Given the description of an element on the screen output the (x, y) to click on. 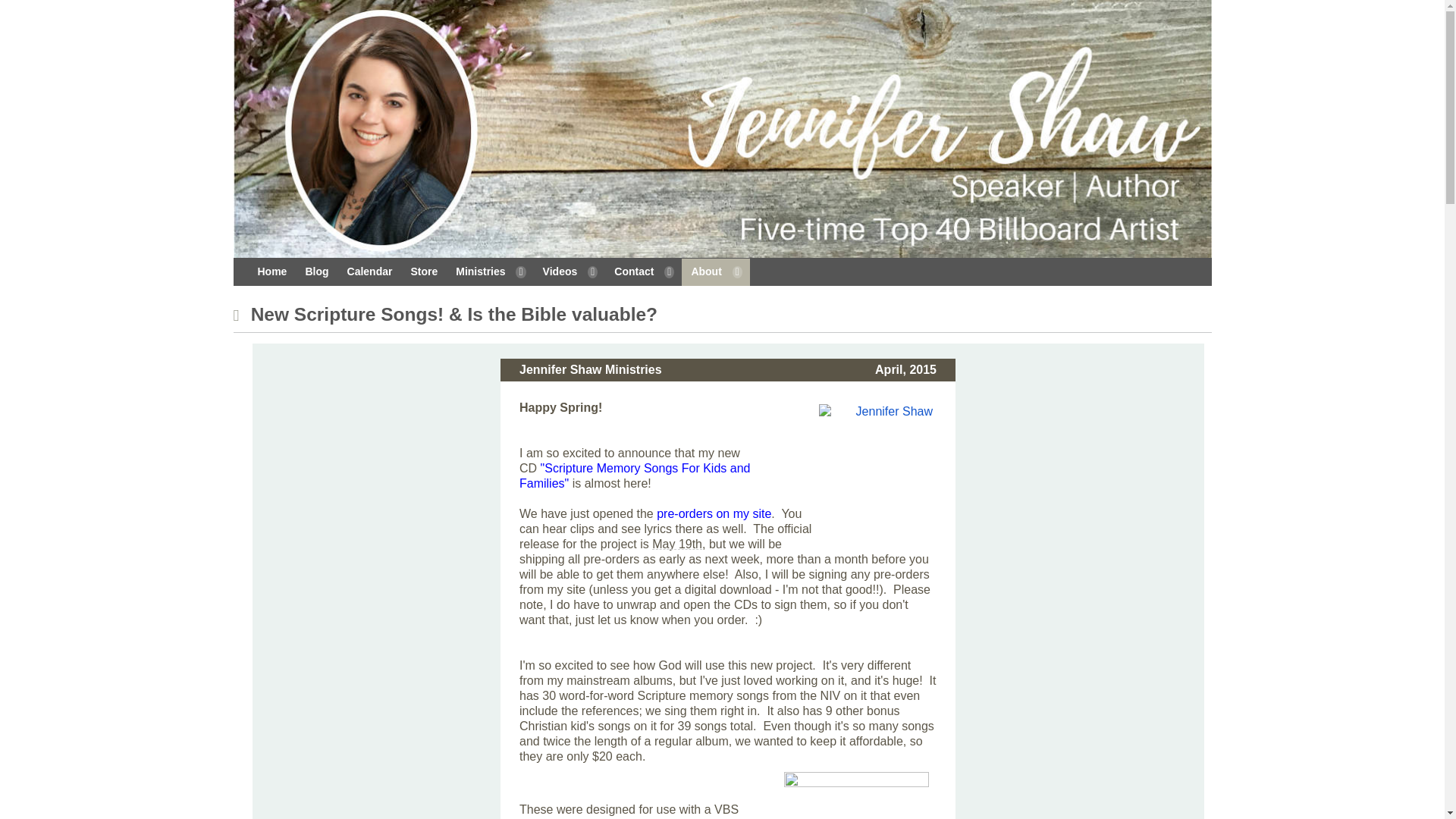
Ministries (489, 271)
pre-orders on my site (713, 513)
Contact (643, 271)
Back (239, 315)
Calendar (369, 271)
Store (423, 271)
Back (239, 315)
Videos (569, 271)
About (715, 271)
Blog (316, 271)
Home (272, 271)
"Scripture Memory Songs For Kids and Families" (634, 475)
